Given the description of an element on the screen output the (x, y) to click on. 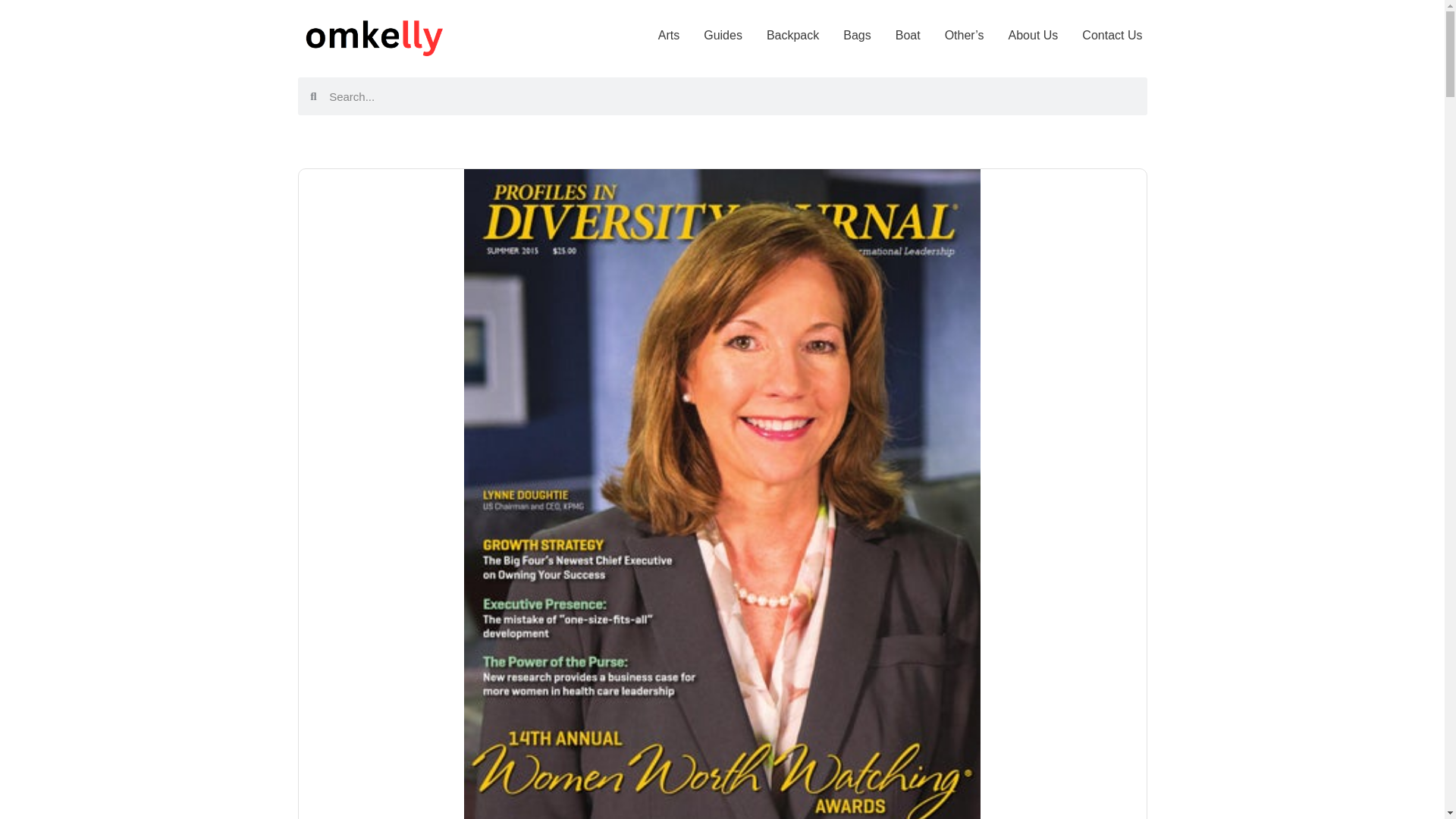
Guides (722, 35)
Backpack (792, 35)
Search (732, 95)
About Us (1032, 35)
Contact Us (1112, 35)
